Given the description of an element on the screen output the (x, y) to click on. 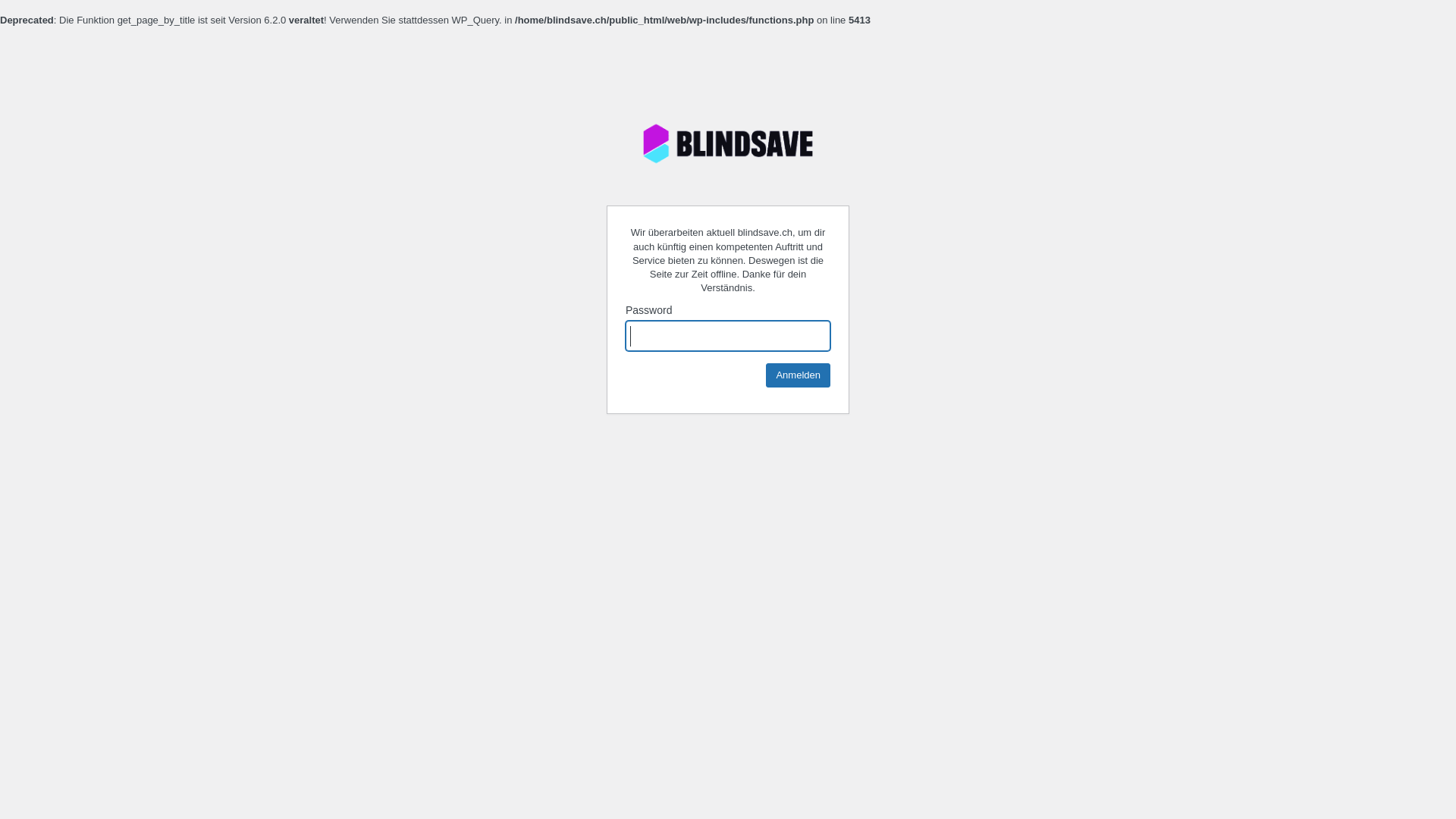
BLINDSAVE Element type: text (727, 143)
Anmelden Element type: text (797, 375)
